Given the description of an element on the screen output the (x, y) to click on. 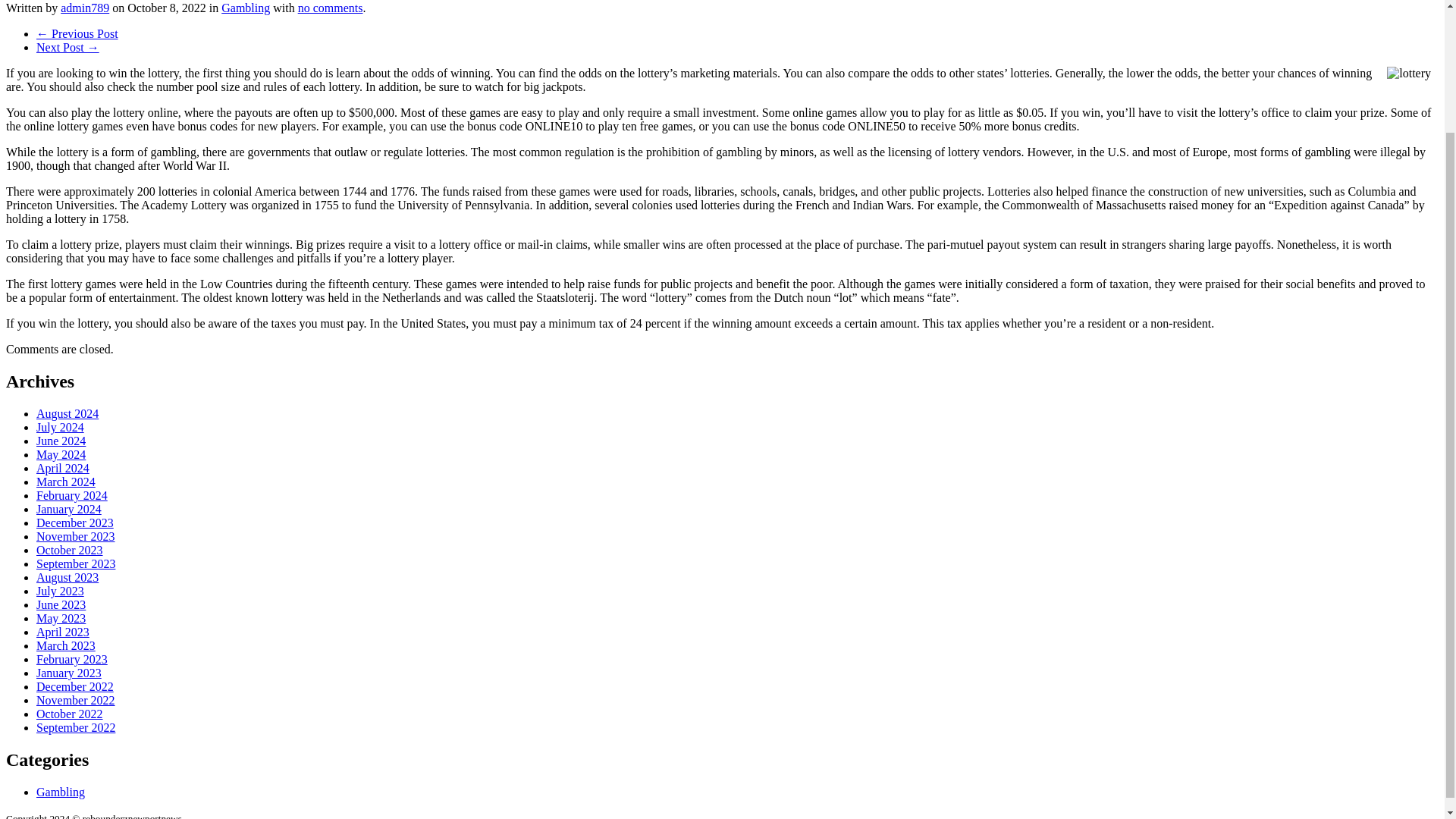
March 2024 (66, 481)
August 2024 (67, 413)
June 2024 (60, 440)
April 2024 (62, 468)
May 2024 (60, 454)
December 2022 (74, 686)
March 2023 (66, 645)
December 2023 (74, 522)
July 2024 (60, 427)
November 2023 (75, 535)
